Given the description of an element on the screen output the (x, y) to click on. 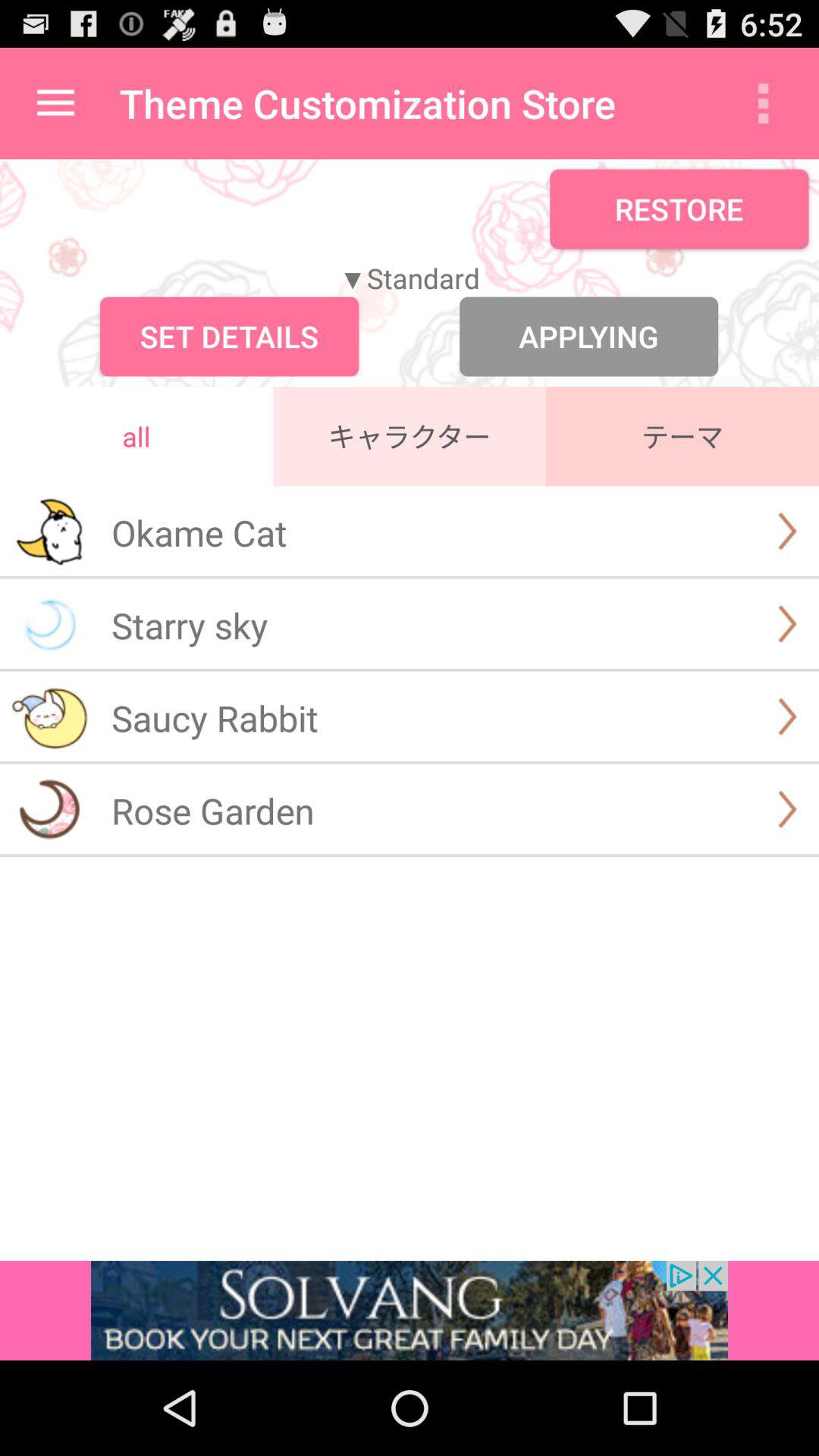
advertisement (409, 1310)
